Given the description of an element on the screen output the (x, y) to click on. 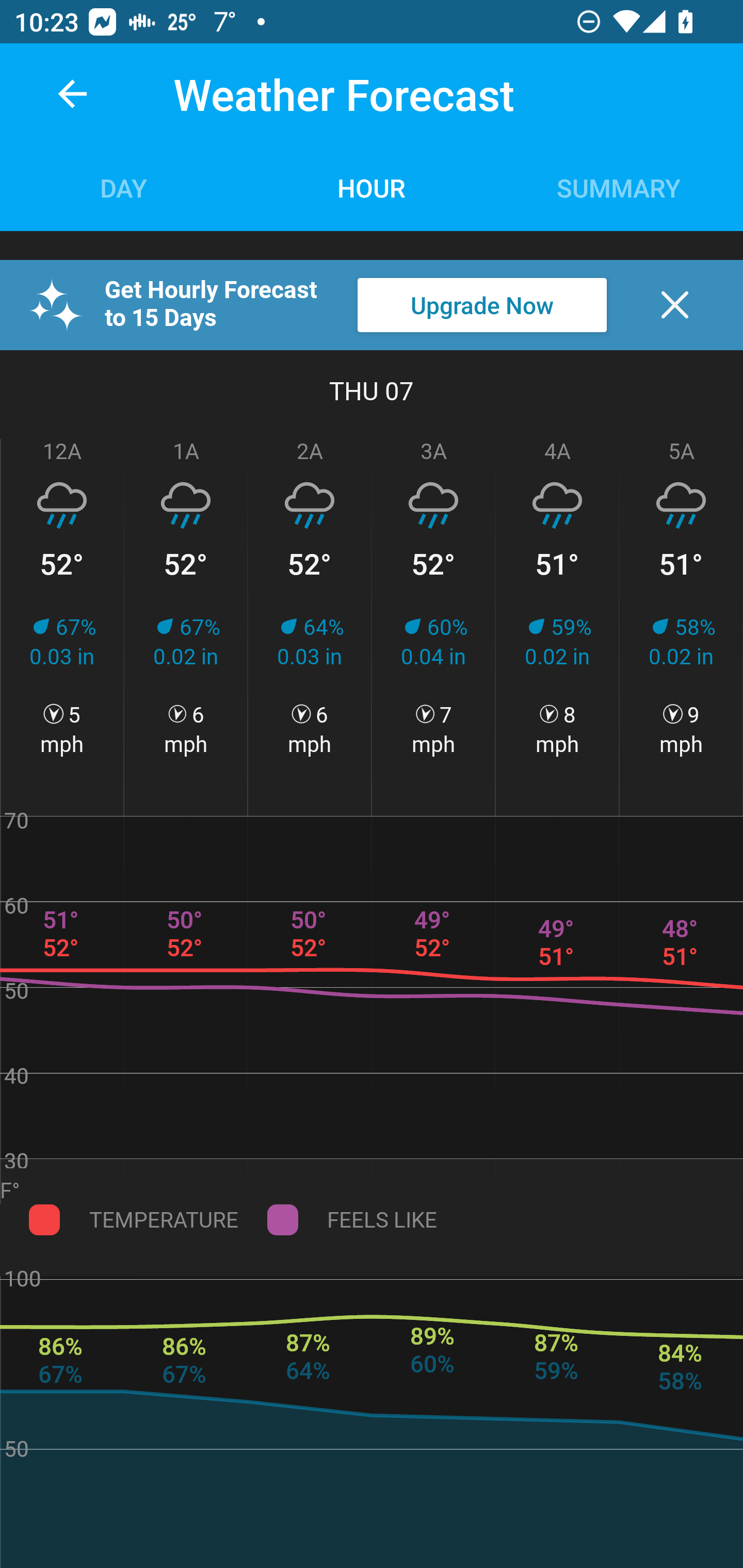
back (71, 93)
Day Tab DAY (123, 187)
Summary Tab SUMMARY (619, 187)
Upgrade Now (482, 304)
